Given the description of an element on the screen output the (x, y) to click on. 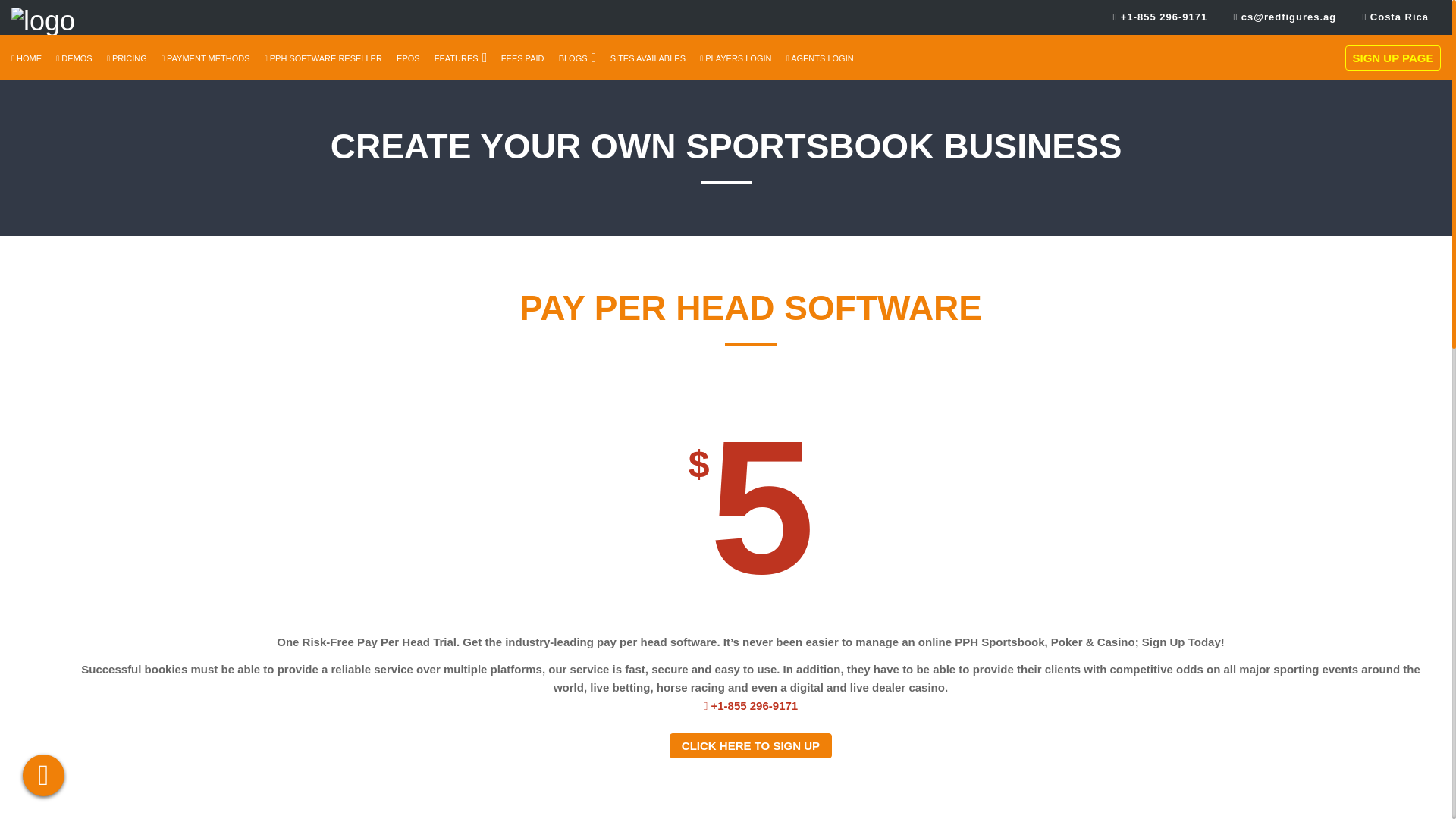
PAYMENT METHODS (205, 58)
CLICK HERE TO SIGN UP (750, 745)
HOME (26, 58)
EPOS (408, 58)
FEES PAID (522, 58)
PPH SOFTWARE RESELLER (322, 58)
Costa Rica (1394, 17)
FEATURES (456, 58)
AGENTS LOGIN (819, 58)
PRICING (126, 58)
